Given the description of an element on the screen output the (x, y) to click on. 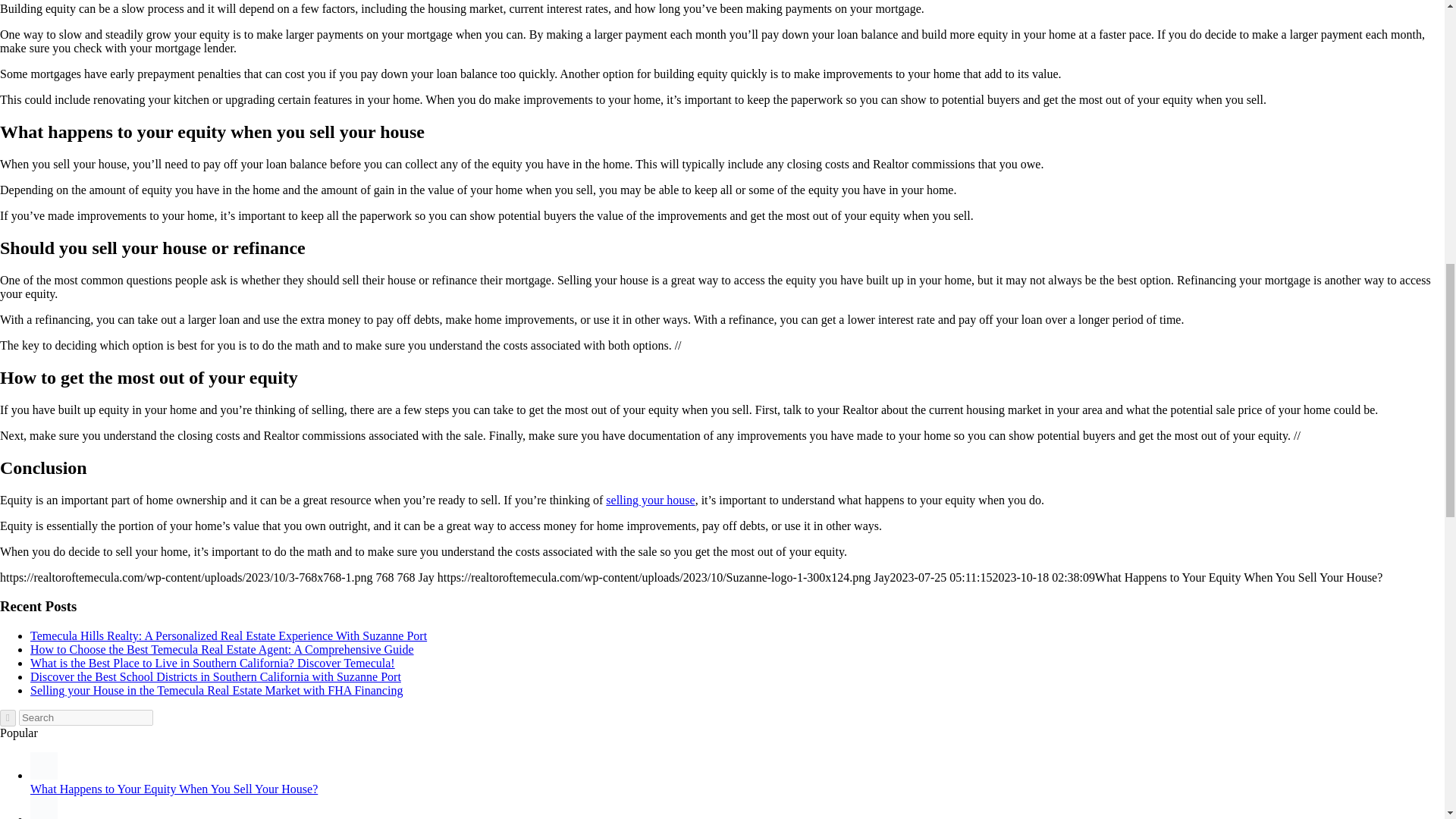
Read: What Happens to Your Equity When You Sell Your House? (173, 788)
Read: What Happens to Your Equity When You Sell Your House? (44, 775)
selling your house (649, 499)
What Happens to Your Equity When You Sell Your House? (173, 788)
